Given the description of an element on the screen output the (x, y) to click on. 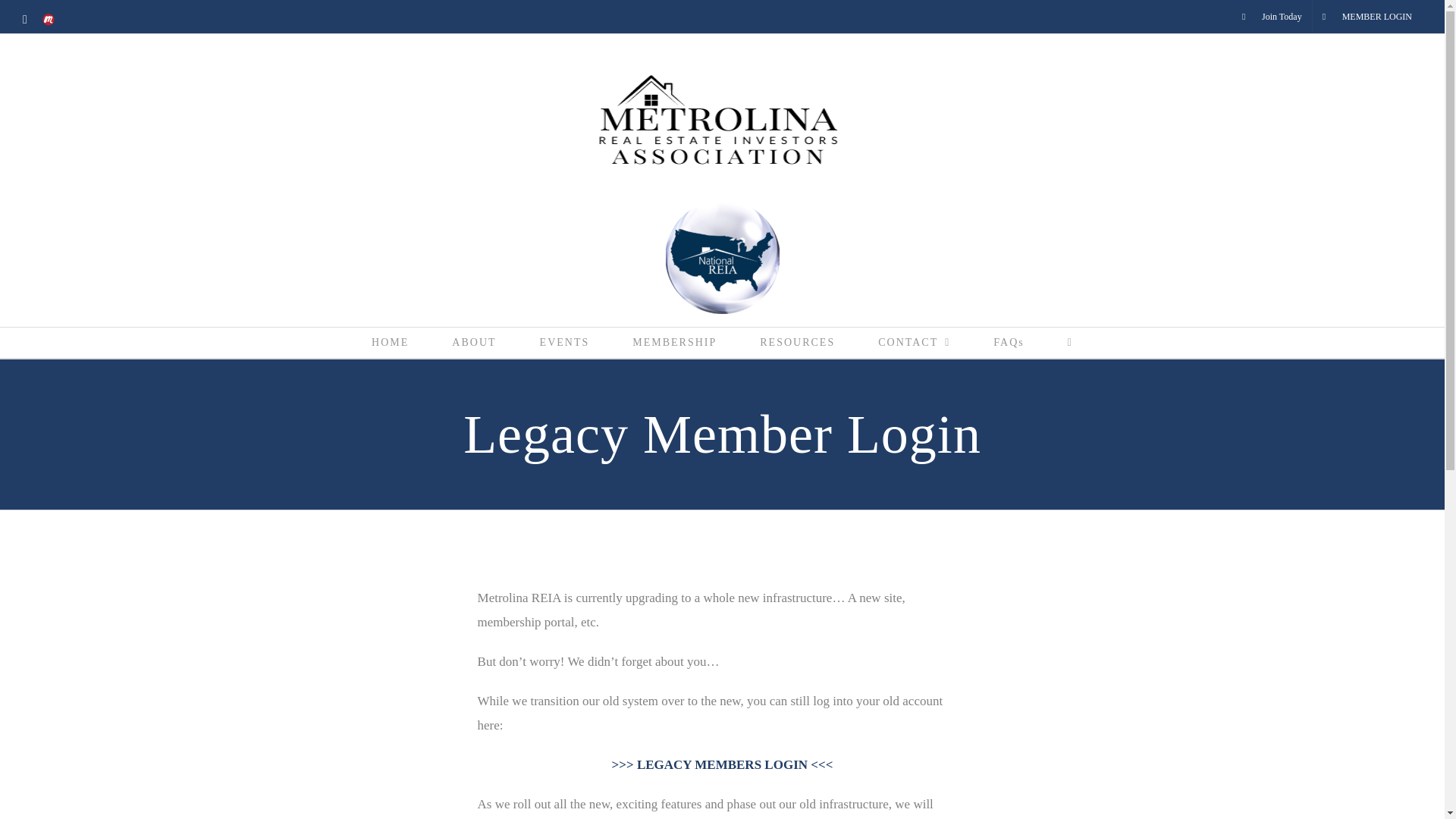
Toggle Sliding Bar (1069, 342)
HOME (390, 342)
ABOUT (474, 342)
CONTACT (914, 342)
FAQs (1008, 342)
Join Today (1271, 16)
RESOURCES (797, 342)
Meetup (48, 19)
Meetup (48, 19)
MEMBER LOGIN (1367, 16)
